Given the description of an element on the screen output the (x, y) to click on. 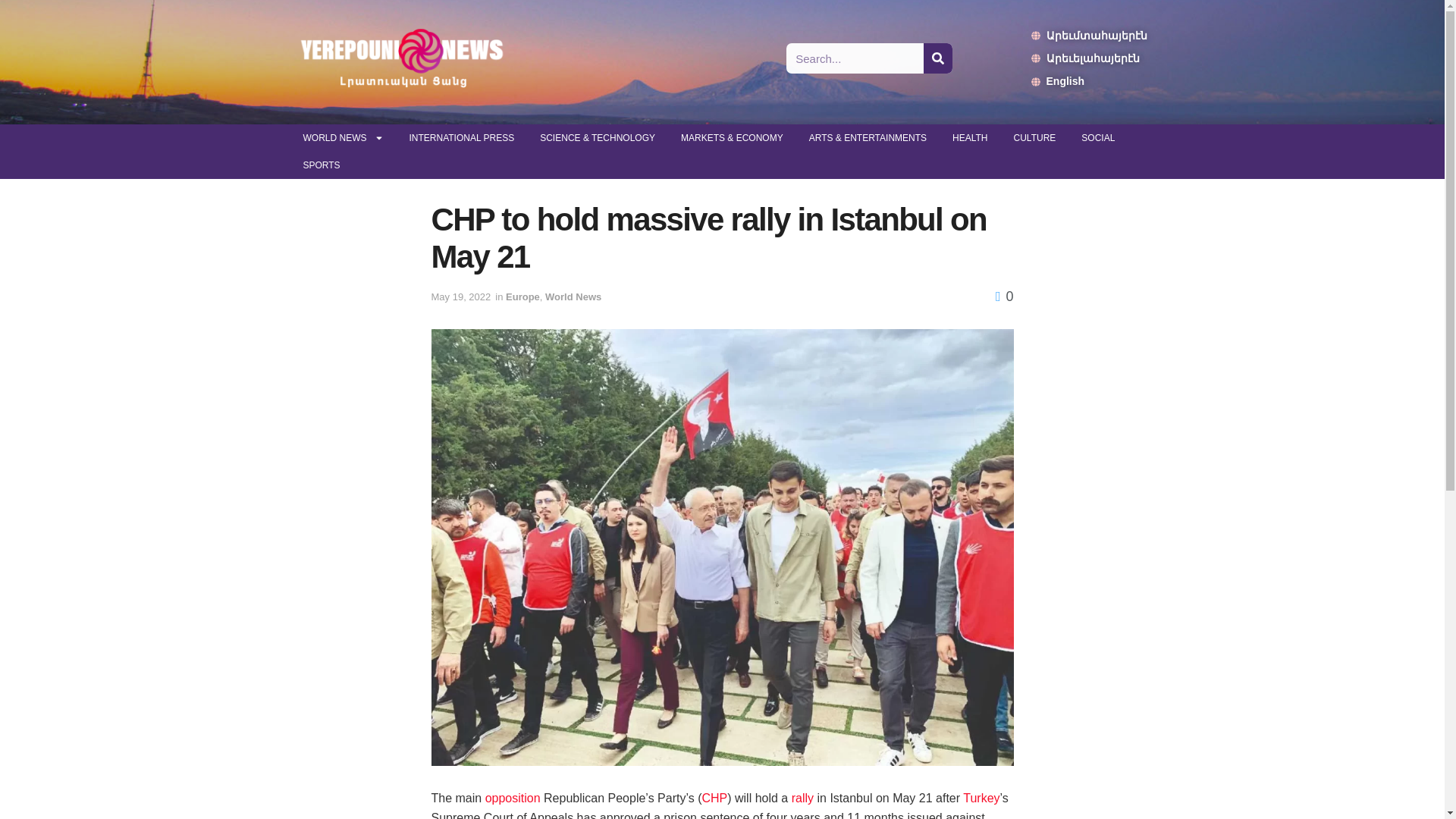
SPORTS (320, 165)
opposition (512, 797)
WORLD NEWS (342, 137)
HEALTH (969, 137)
English (1088, 80)
INTERNATIONAL PRESS (461, 137)
Europe (522, 296)
CULTURE (1034, 137)
Turkey (980, 797)
SOCIAL (1097, 137)
rally (802, 797)
0 (1004, 296)
chp (713, 797)
May 19, 2022 (460, 296)
World News (572, 296)
